Given the description of an element on the screen output the (x, y) to click on. 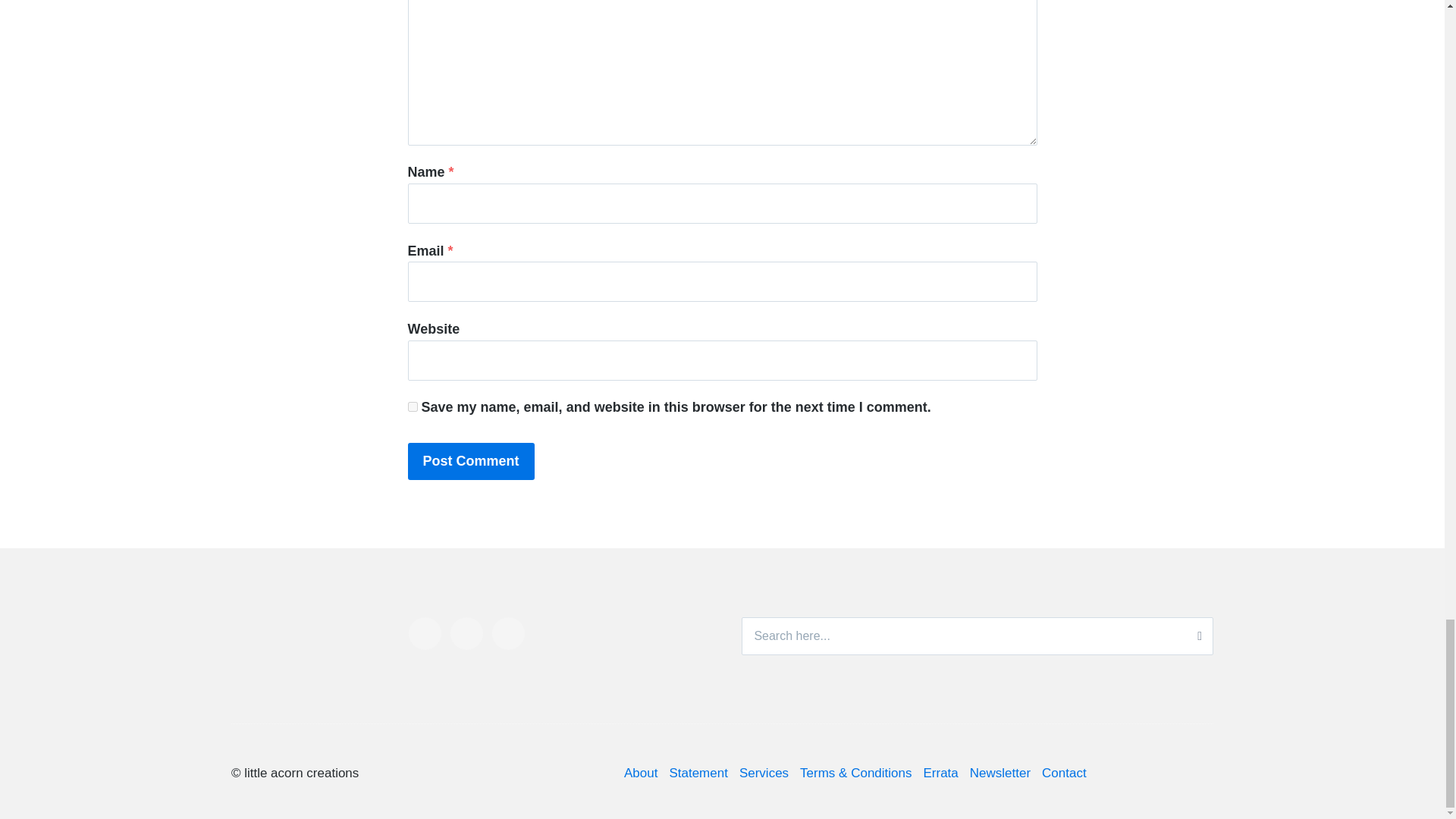
yes (412, 406)
Post Comment (470, 461)
Post Comment (470, 461)
